Given the description of an element on the screen output the (x, y) to click on. 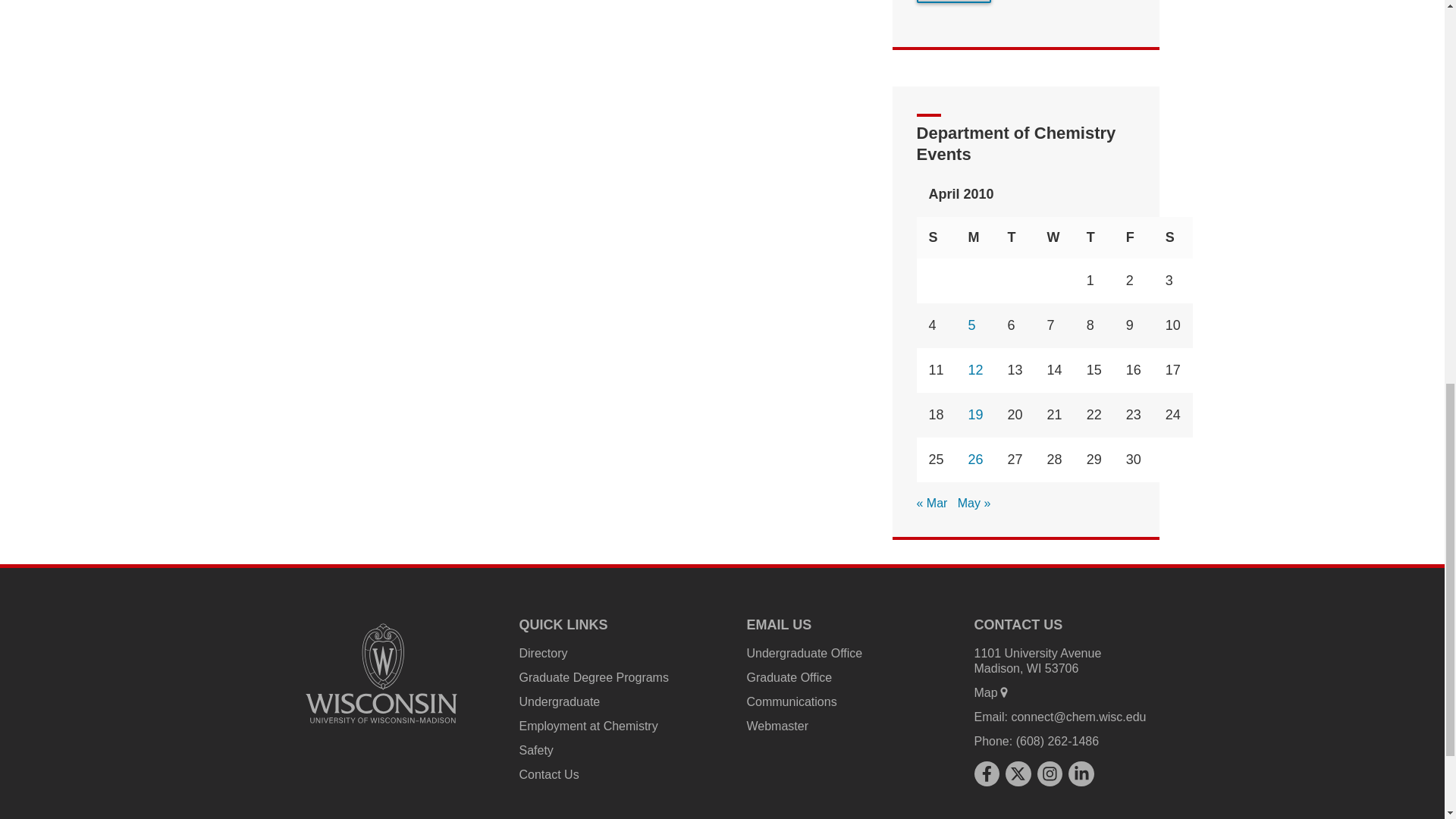
map marker (1003, 692)
Saturday (1172, 237)
x twitter (1018, 773)
facebook (986, 773)
Thursday (1093, 237)
Wednesday (1054, 237)
linkedin (1081, 773)
instagram (1049, 773)
Tuesday (1015, 237)
Friday (1133, 237)
Sunday (936, 237)
University logo that links to main university website (380, 673)
Submit (954, 1)
Monday (975, 237)
